Given the description of an element on the screen output the (x, y) to click on. 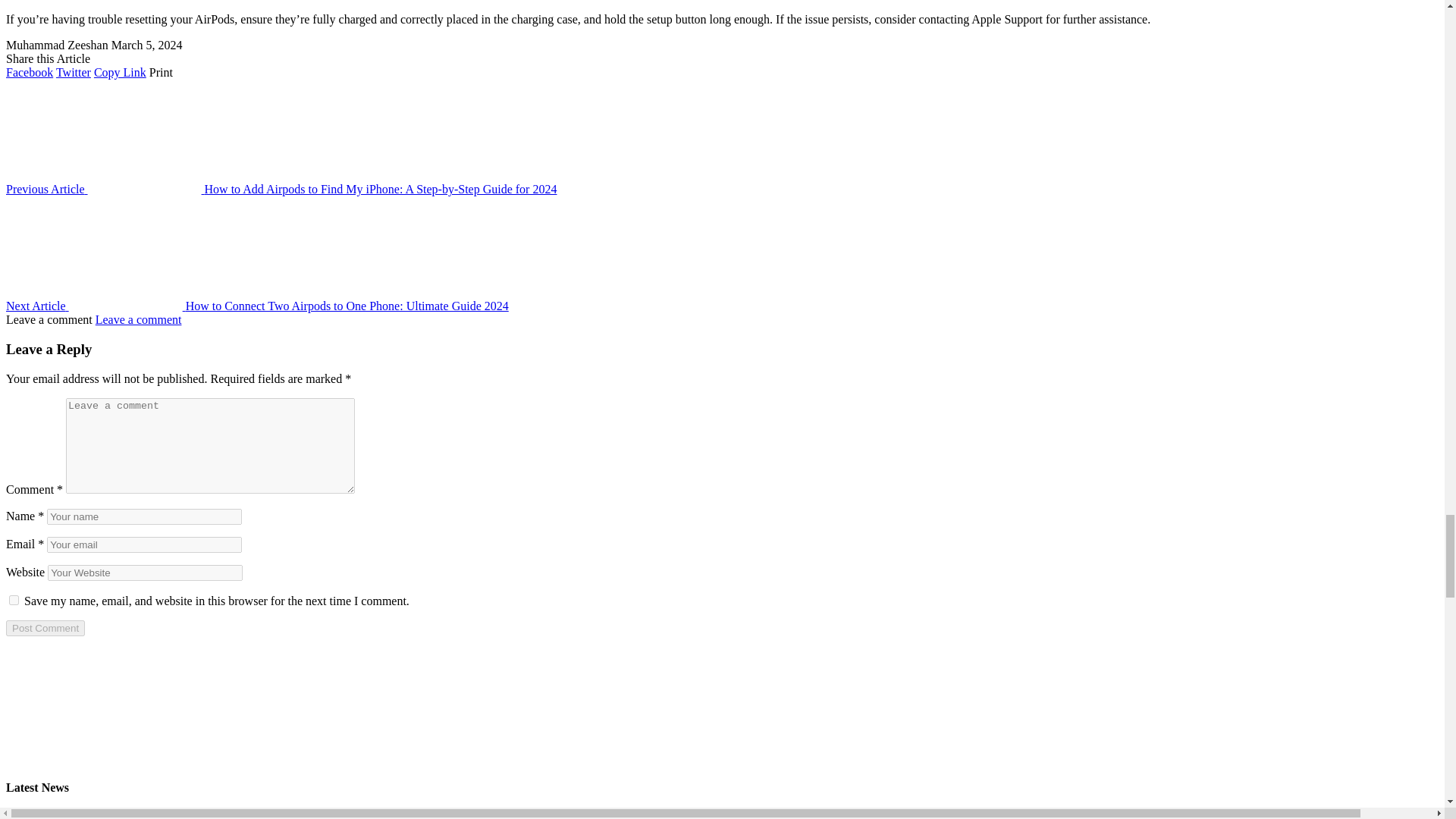
DMCA.com Protection Status (721, 757)
Post Comment (44, 627)
yes (13, 600)
